Given the description of an element on the screen output the (x, y) to click on. 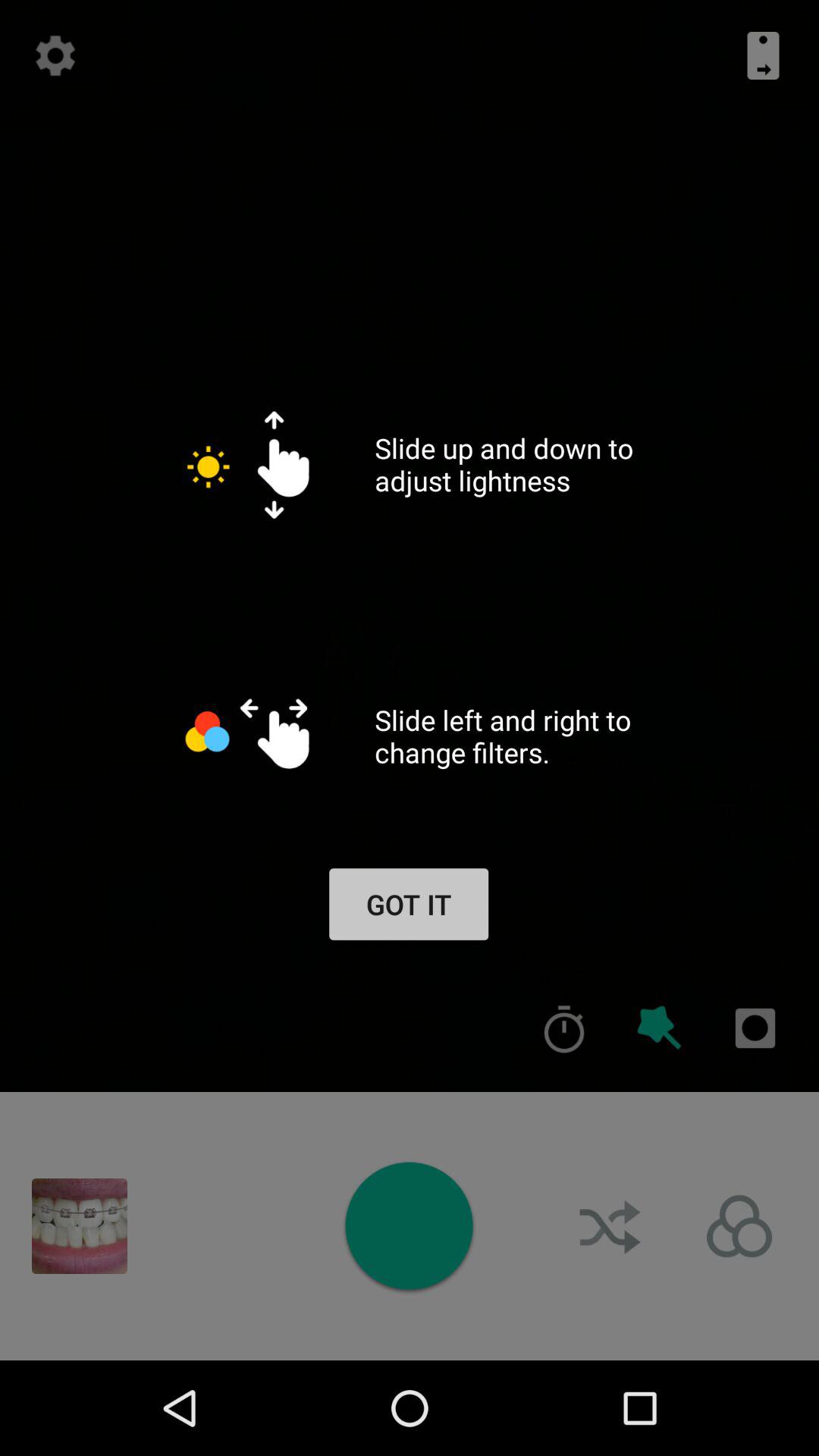
jump until got it button (408, 904)
